Given the description of an element on the screen output the (x, y) to click on. 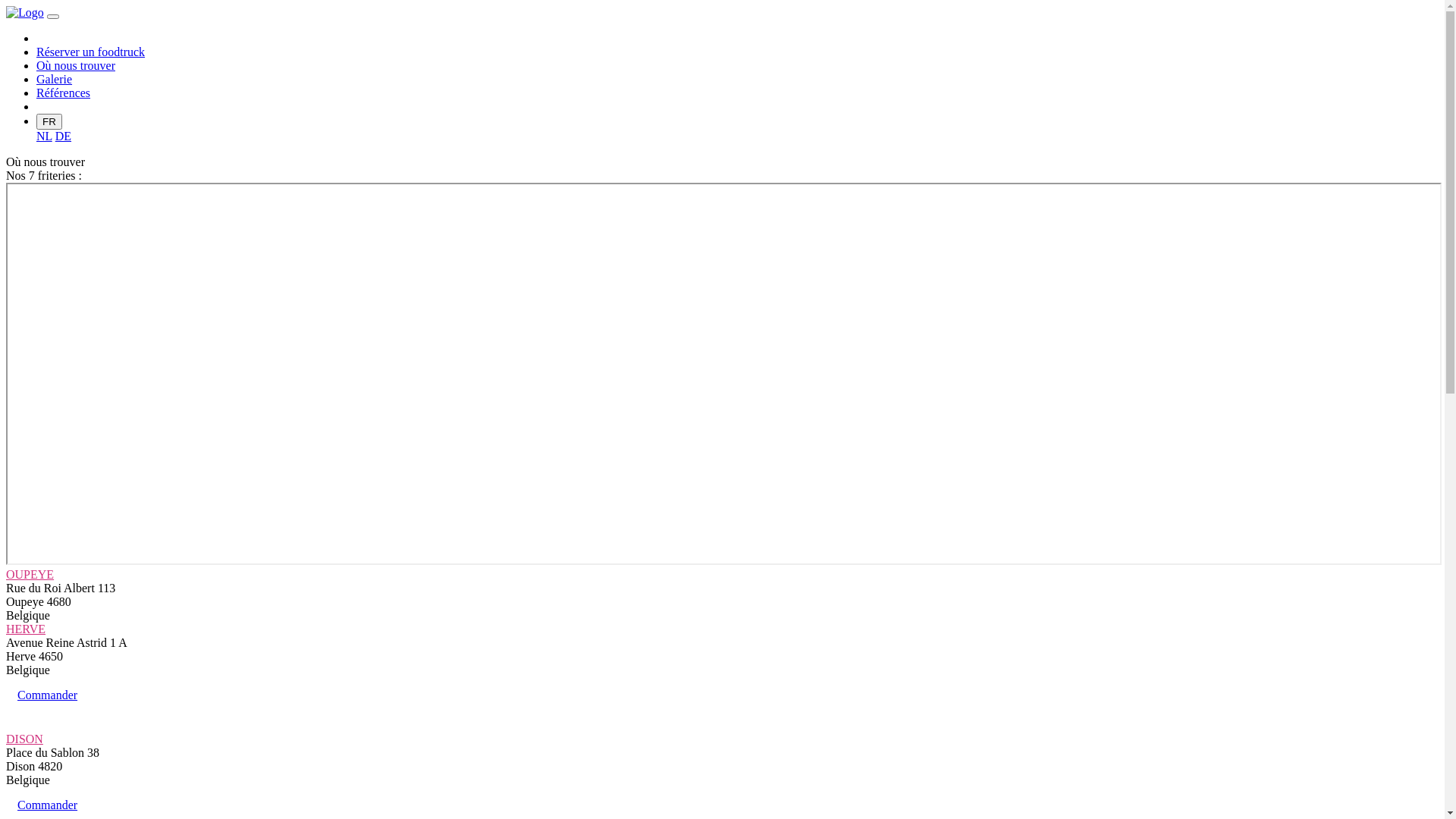
FR Element type: text (49, 121)
NL Element type: text (44, 135)
DISON Element type: text (24, 738)
OUPEYE Element type: text (29, 573)
DE Element type: text (63, 135)
HERVE Element type: text (25, 628)
Galerie Element type: text (54, 78)
Commander Element type: text (47, 694)
